Given the description of an element on the screen output the (x, y) to click on. 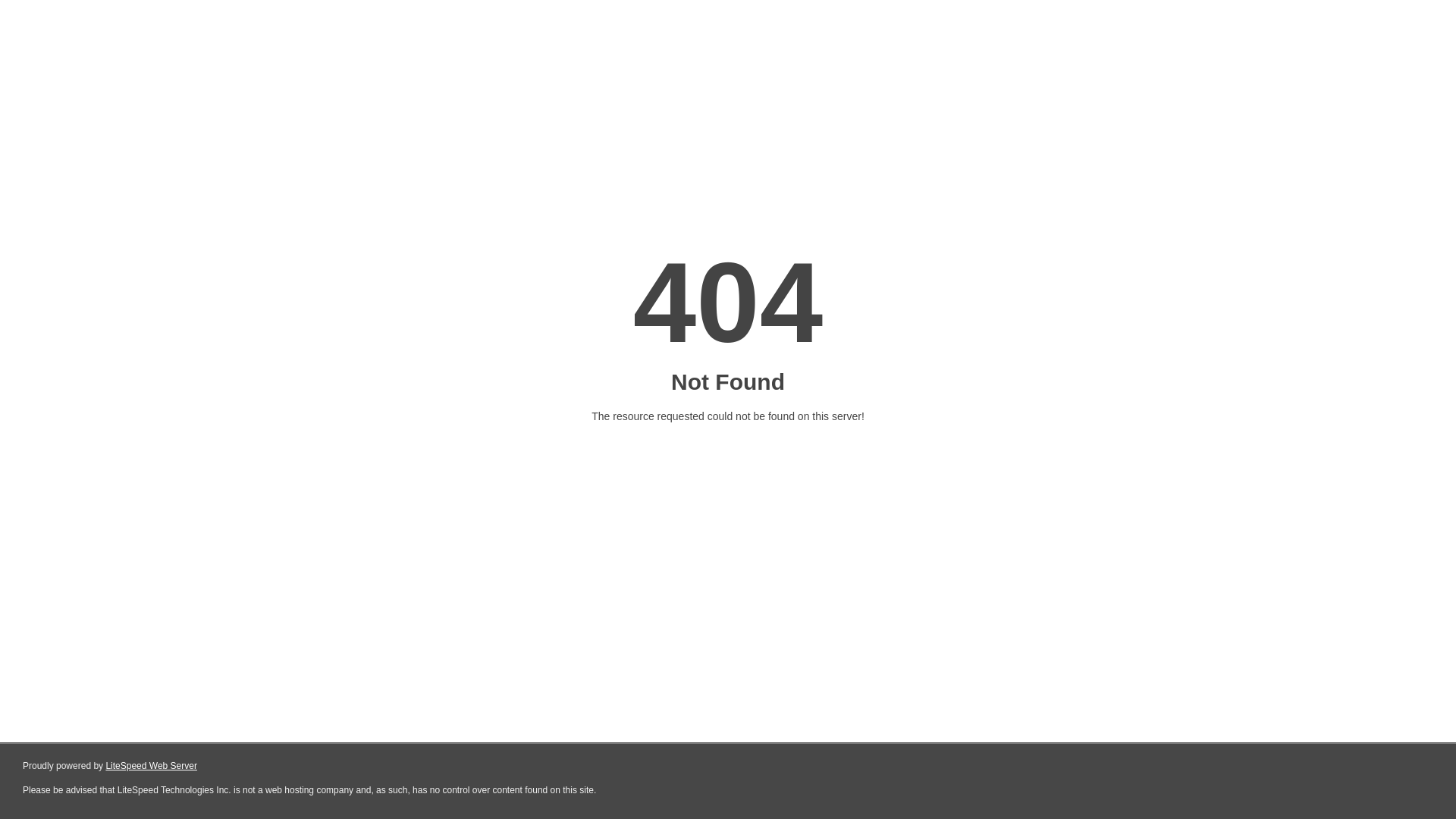
LiteSpeed Web Server Element type: text (151, 765)
